Given the description of an element on the screen output the (x, y) to click on. 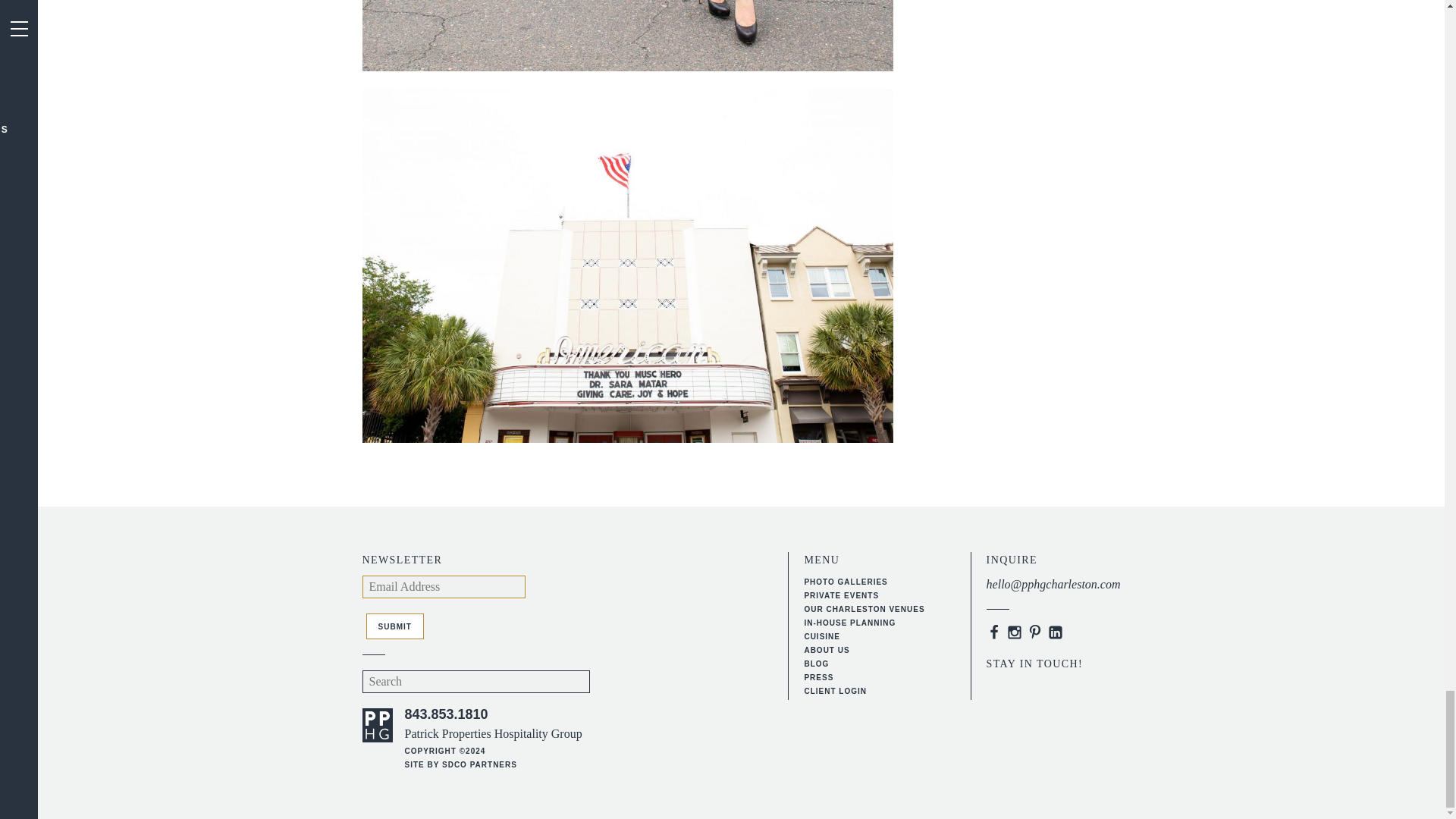
OUR CHARLESTON VENUES (863, 609)
ABOUT US (825, 650)
IN-HOUSE PLANNING (849, 623)
CUISINE (821, 636)
BLOG (815, 664)
SDCO PARTNERS (479, 764)
PHOTO GALLERIES (844, 582)
Submit (394, 626)
PRIVATE EVENTS (841, 595)
PRESS (817, 677)
Submit (394, 626)
